Given the description of an element on the screen output the (x, y) to click on. 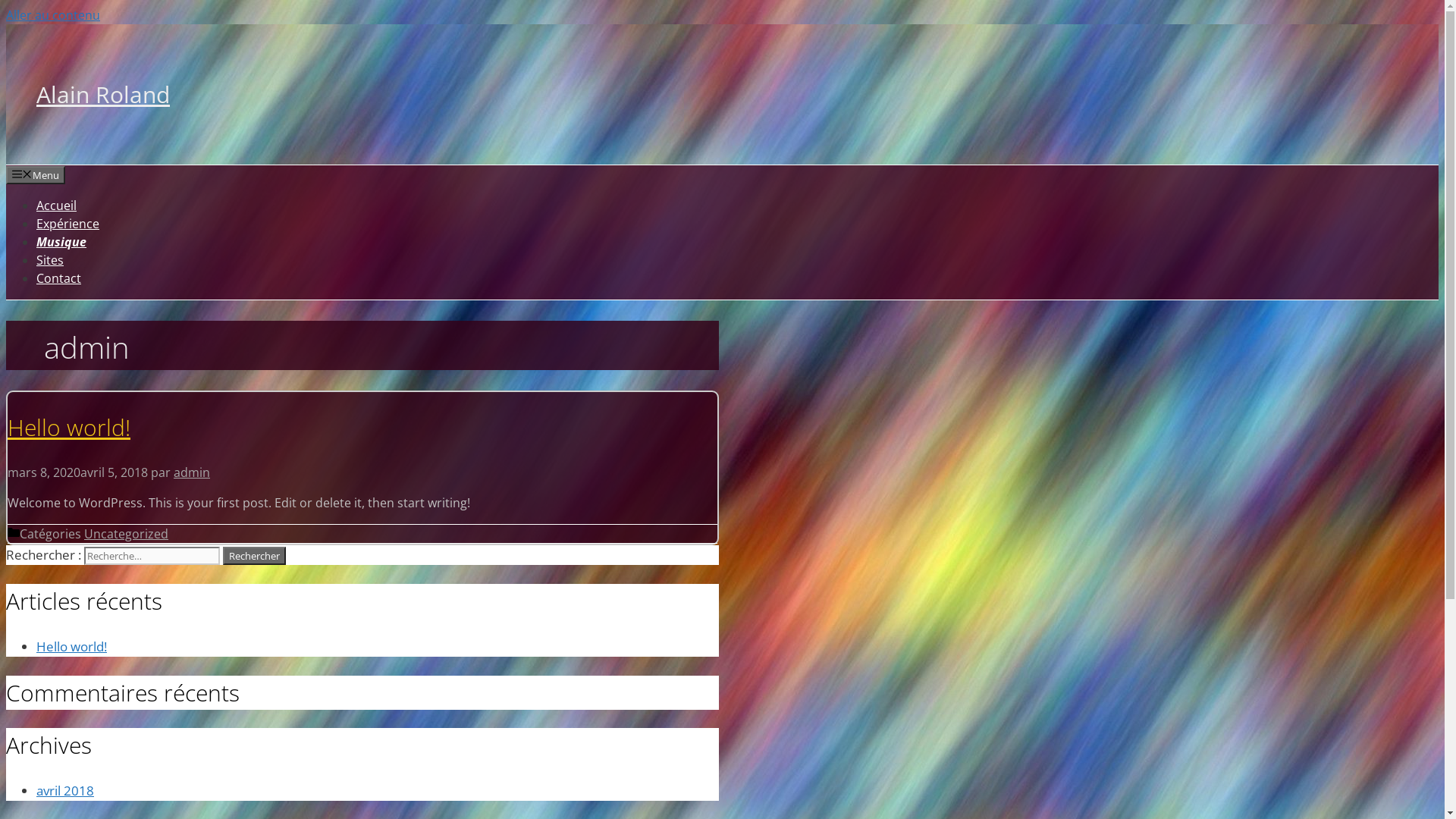
Rechercher Element type: text (253, 555)
admin Element type: text (191, 472)
Aller au contenu Element type: text (53, 14)
Uncategorized Element type: text (126, 533)
Contact Element type: text (58, 277)
Hello world! Element type: text (68, 426)
Menu Element type: text (35, 175)
Hello world! Element type: text (71, 646)
Sites Element type: text (49, 259)
Alain Roland Element type: text (102, 93)
avril 2018 Element type: text (65, 790)
Musique Element type: text (61, 241)
Accueil Element type: text (56, 205)
